Given the description of an element on the screen output the (x, y) to click on. 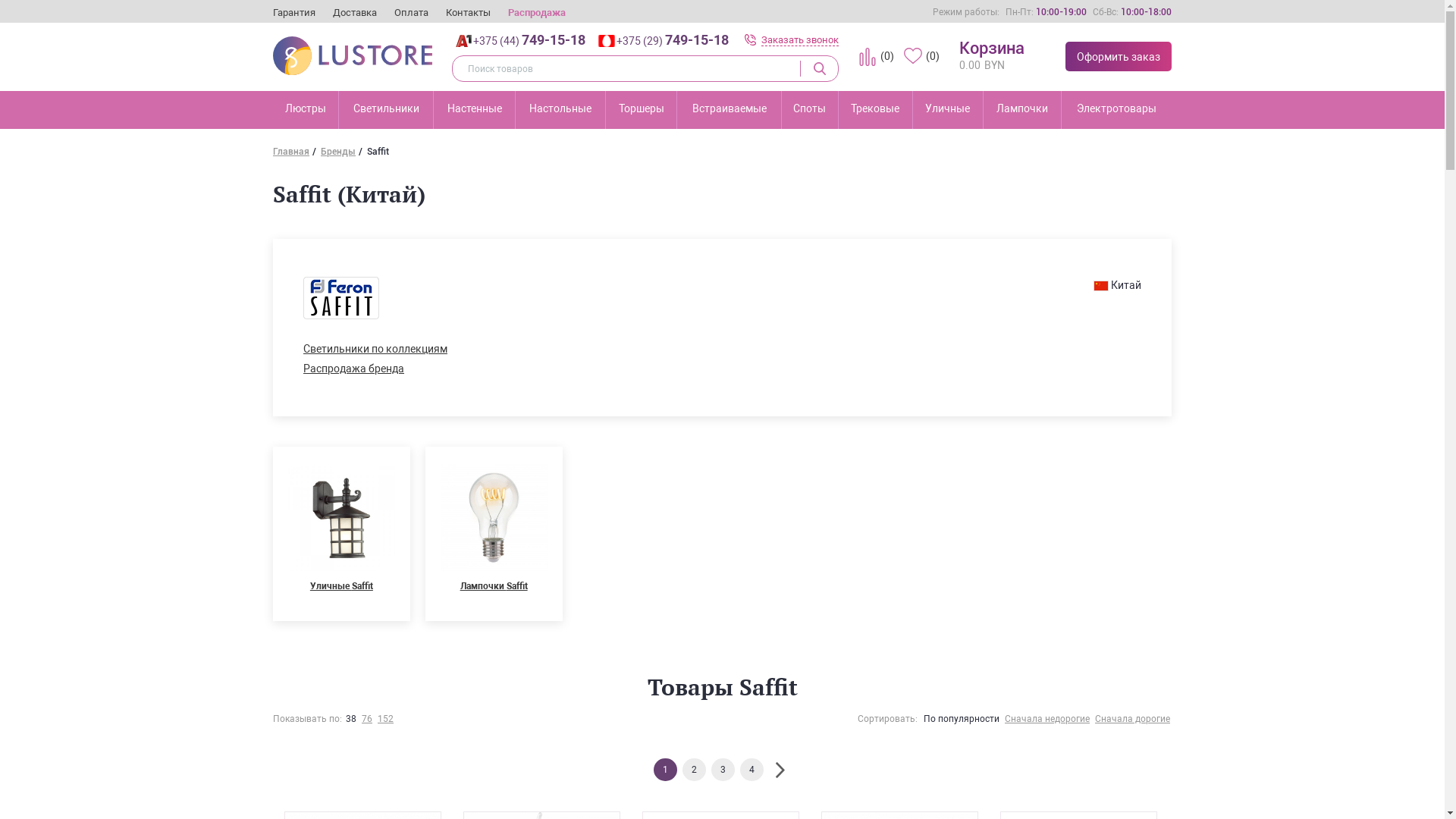
(0) Element type: text (876, 56)
4 Element type: text (751, 769)
38 Element type: text (350, 718)
(0) Element type: text (921, 56)
3 Element type: text (722, 769)
152 Element type: text (385, 718)
+375 (29) 749-15-18 Element type: text (661, 40)
2 Element type: text (694, 769)
+375 (44) 749-15-18 Element type: text (518, 40)
76 Element type: text (366, 718)
